Given the description of an element on the screen output the (x, y) to click on. 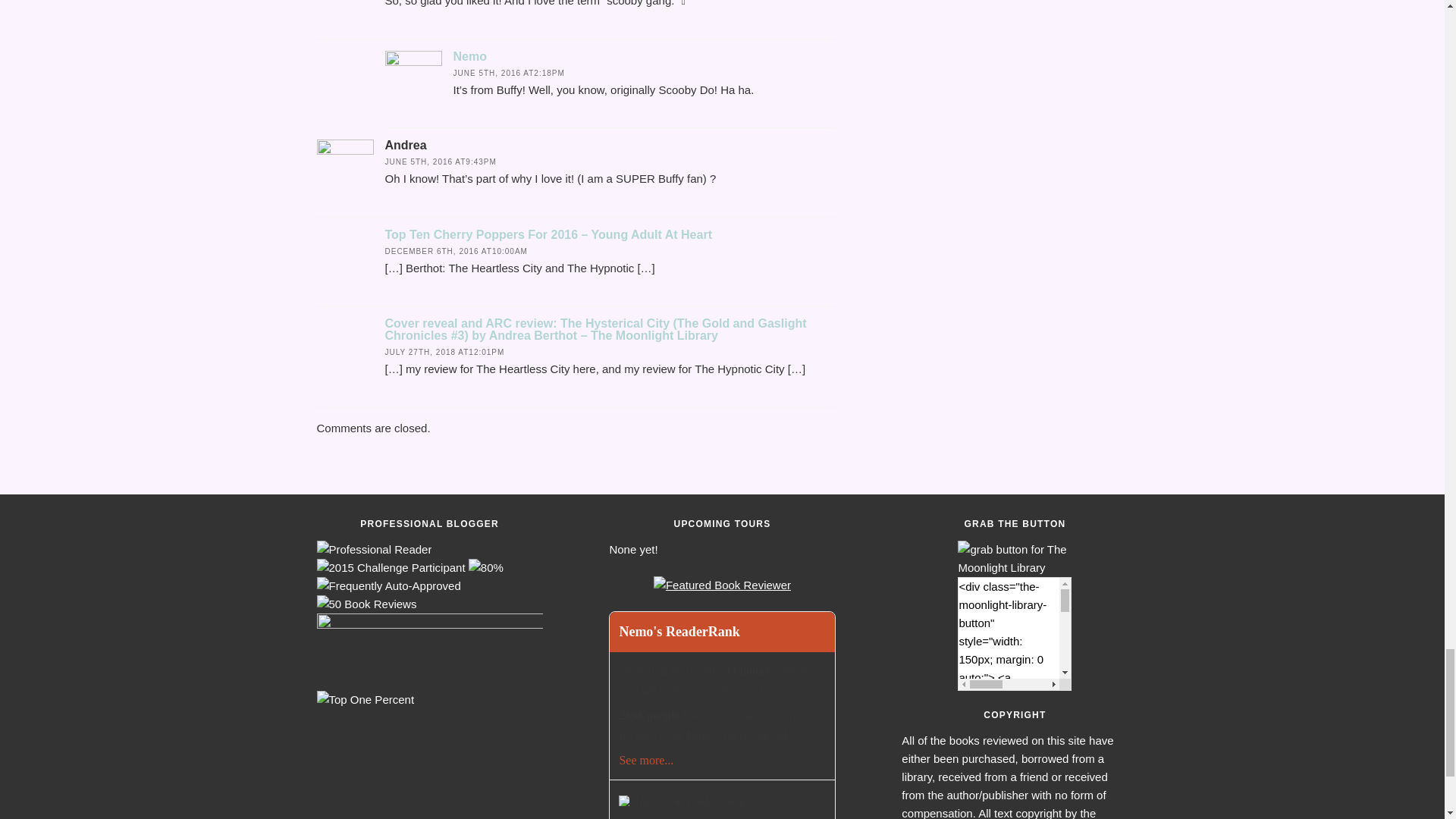
Frequently Auto-Approved (389, 586)
2015 Challenge Participant (391, 567)
Professional Reader (374, 549)
50 Book Reviews (366, 604)
